Given the description of an element on the screen output the (x, y) to click on. 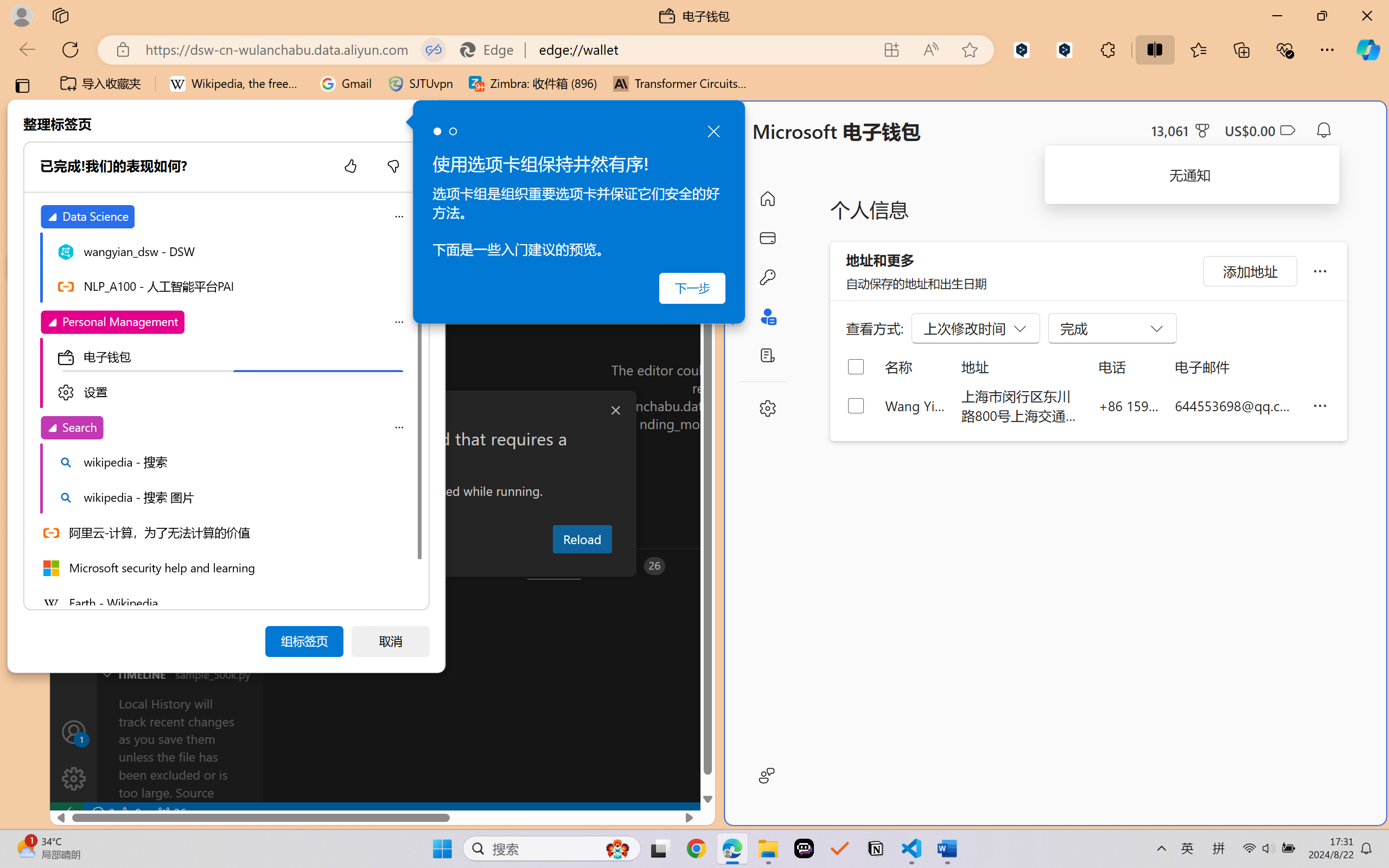
Class: menubar compact overflow-menu-only (73, 194)
Extensions (Ctrl+Shift+X) (73, 422)
Views and More Actions... (240, 193)
Class: ___1lmltc5 f1agt3bx f12qytpq (1286, 130)
